Given the description of an element on the screen output the (x, y) to click on. 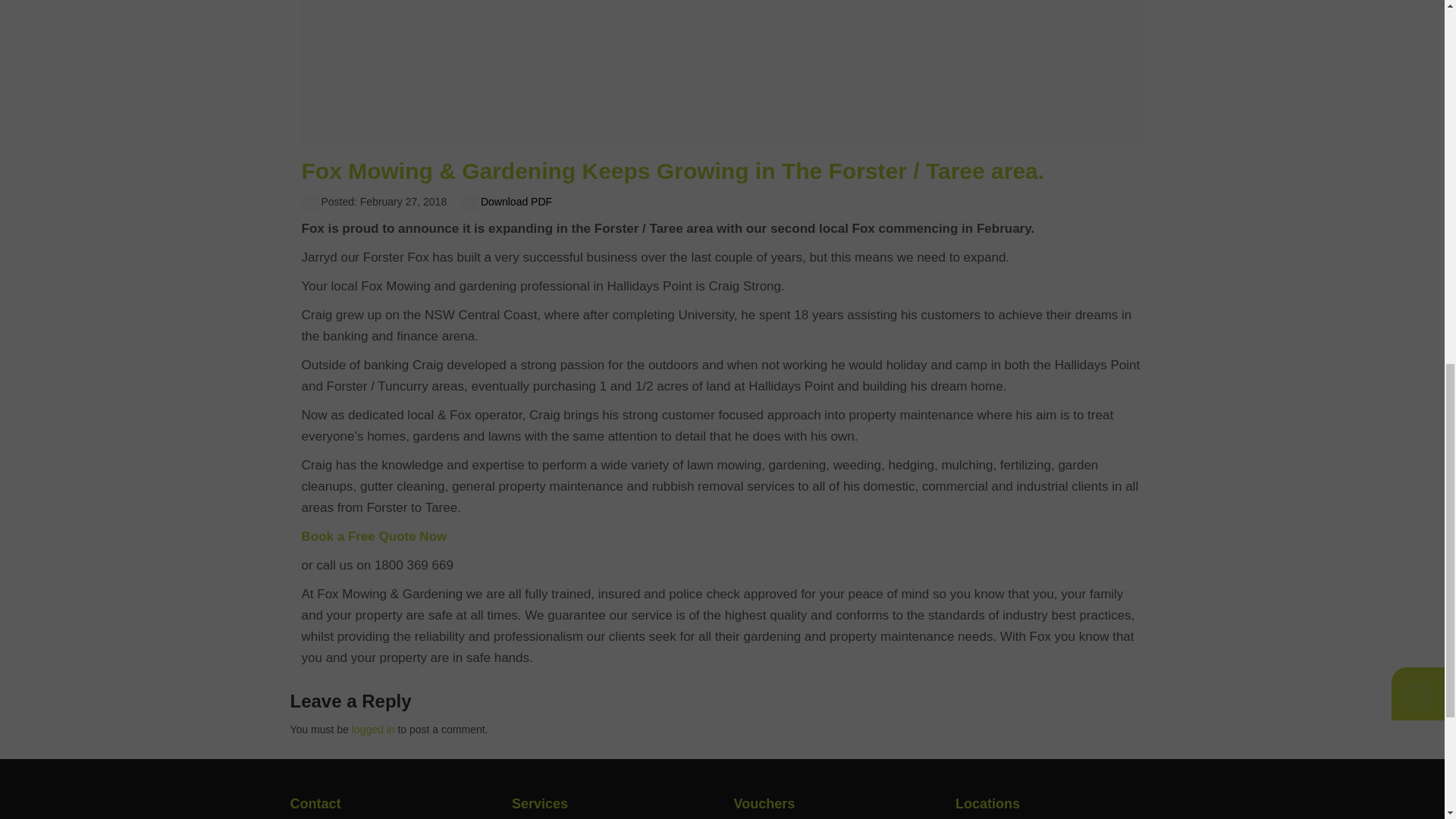
logged in (373, 729)
Download PDF (506, 201)
Book a Free Quote Now (373, 536)
